Given the description of an element on the screen output the (x, y) to click on. 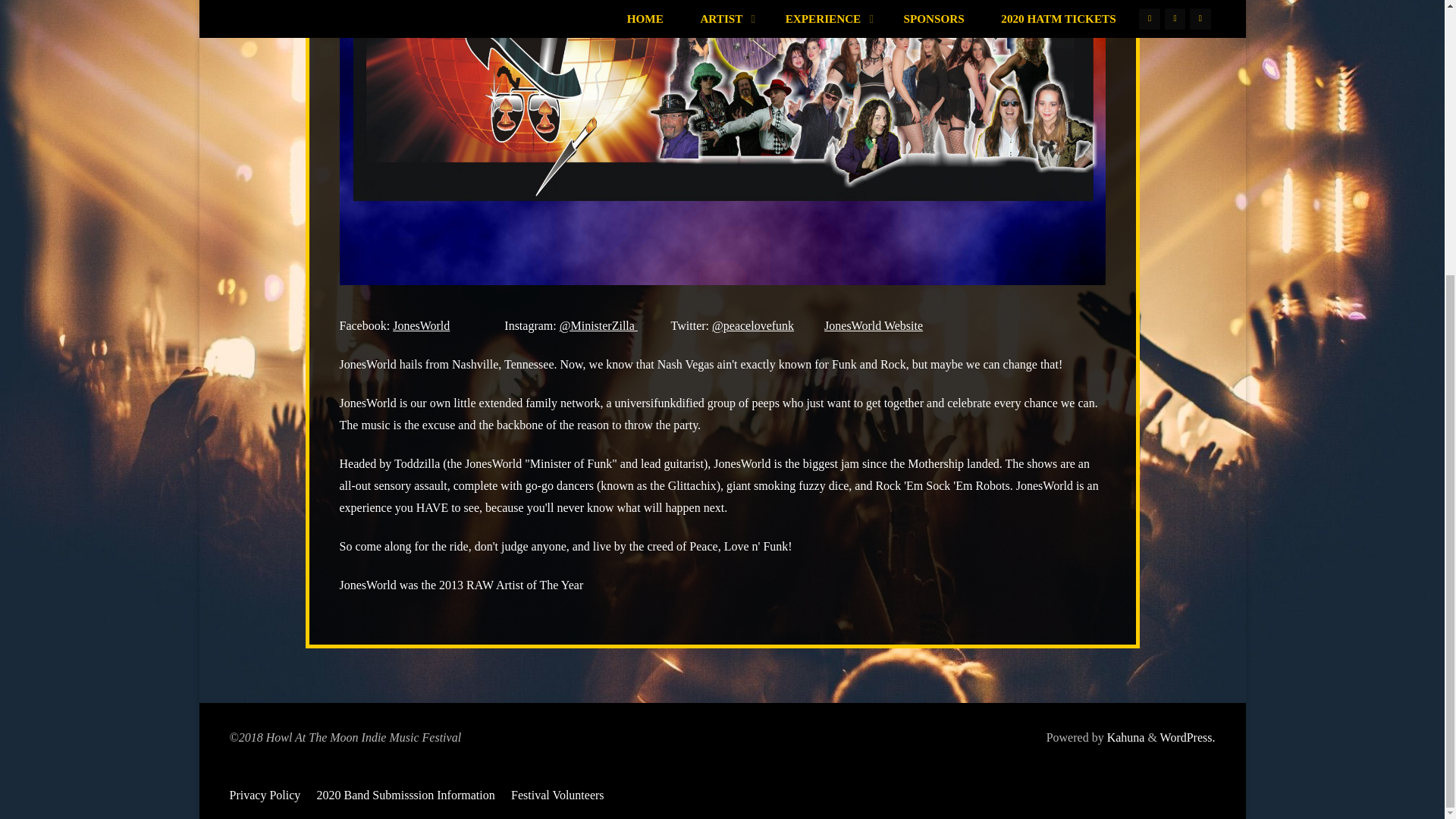
JonesWorld (421, 325)
Semantic Personal Publishing Platform (1187, 737)
Kahuna (1123, 737)
Kahuna WordPress Theme by Cryout Creations (1123, 737)
JonesWorld Website (873, 325)
